Given the description of an element on the screen output the (x, y) to click on. 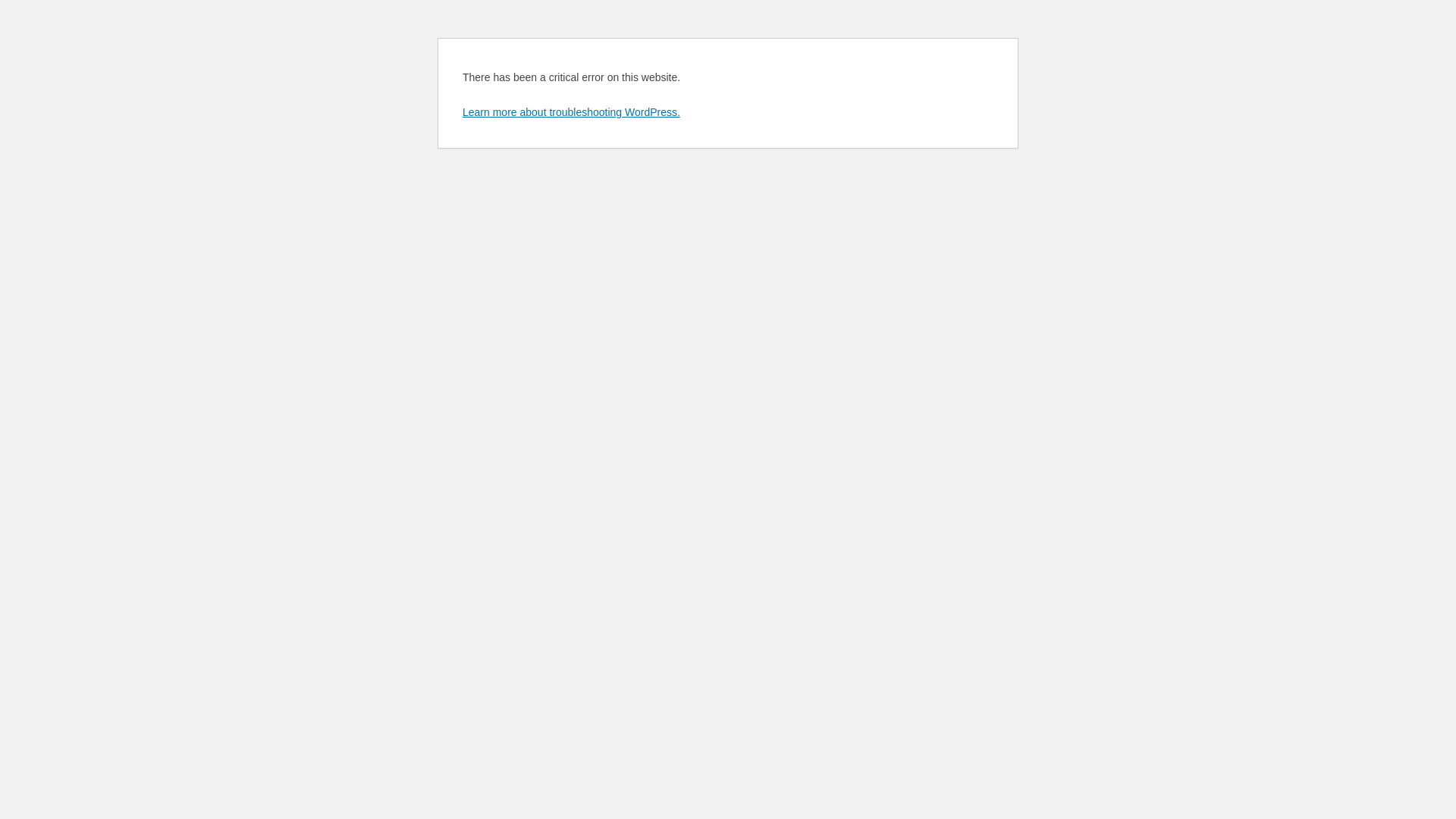
Learn more about troubleshooting WordPress. Element type: text (571, 112)
